Given the description of an element on the screen output the (x, y) to click on. 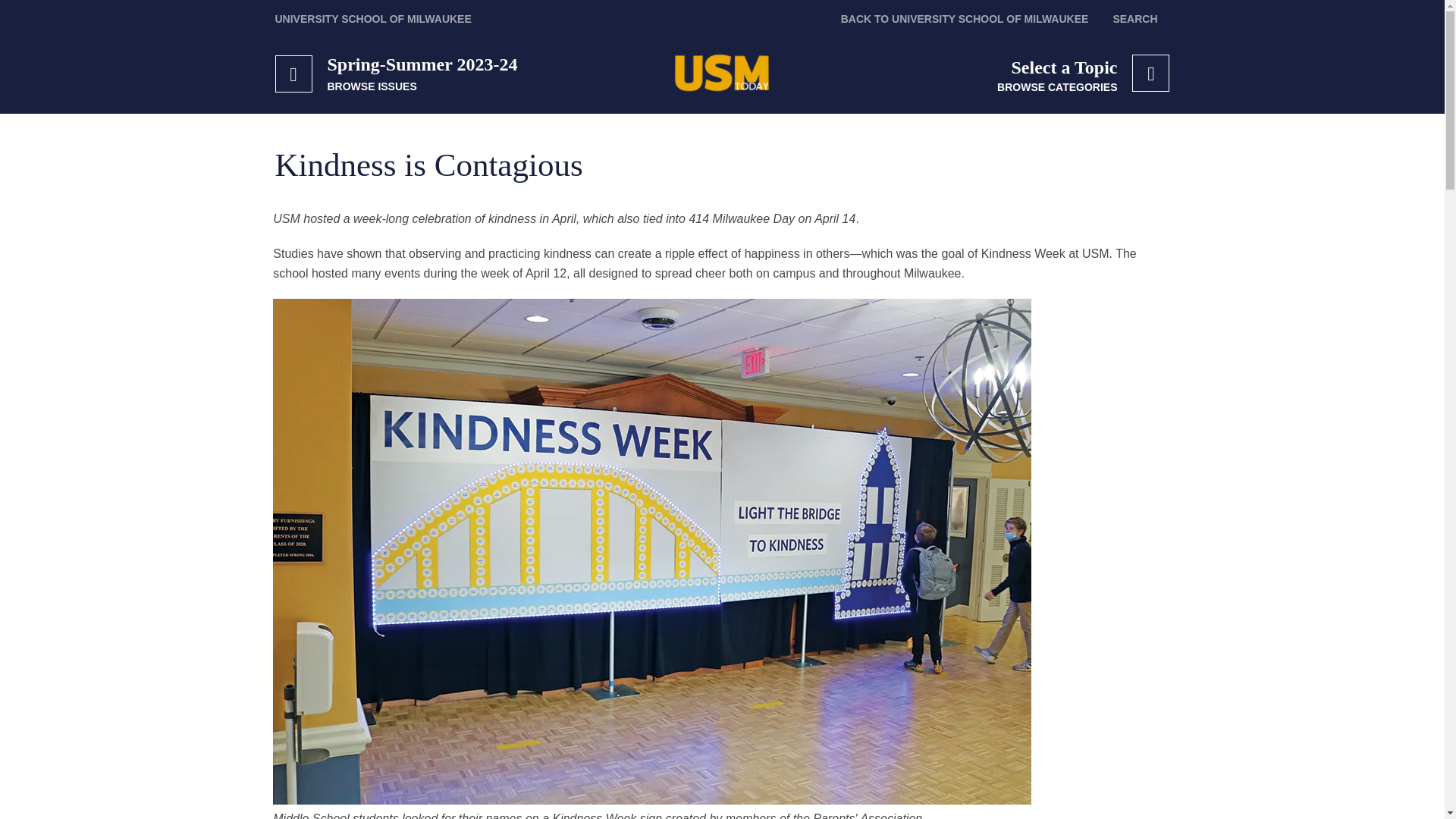
SEARCH (1134, 18)
UNIVERSITY SCHOOL OF MILWAUKEE (372, 18)
BACK TO UNIVERSITY SCHOOL OF MILWAUKEE (1056, 74)
